Given the description of an element on the screen output the (x, y) to click on. 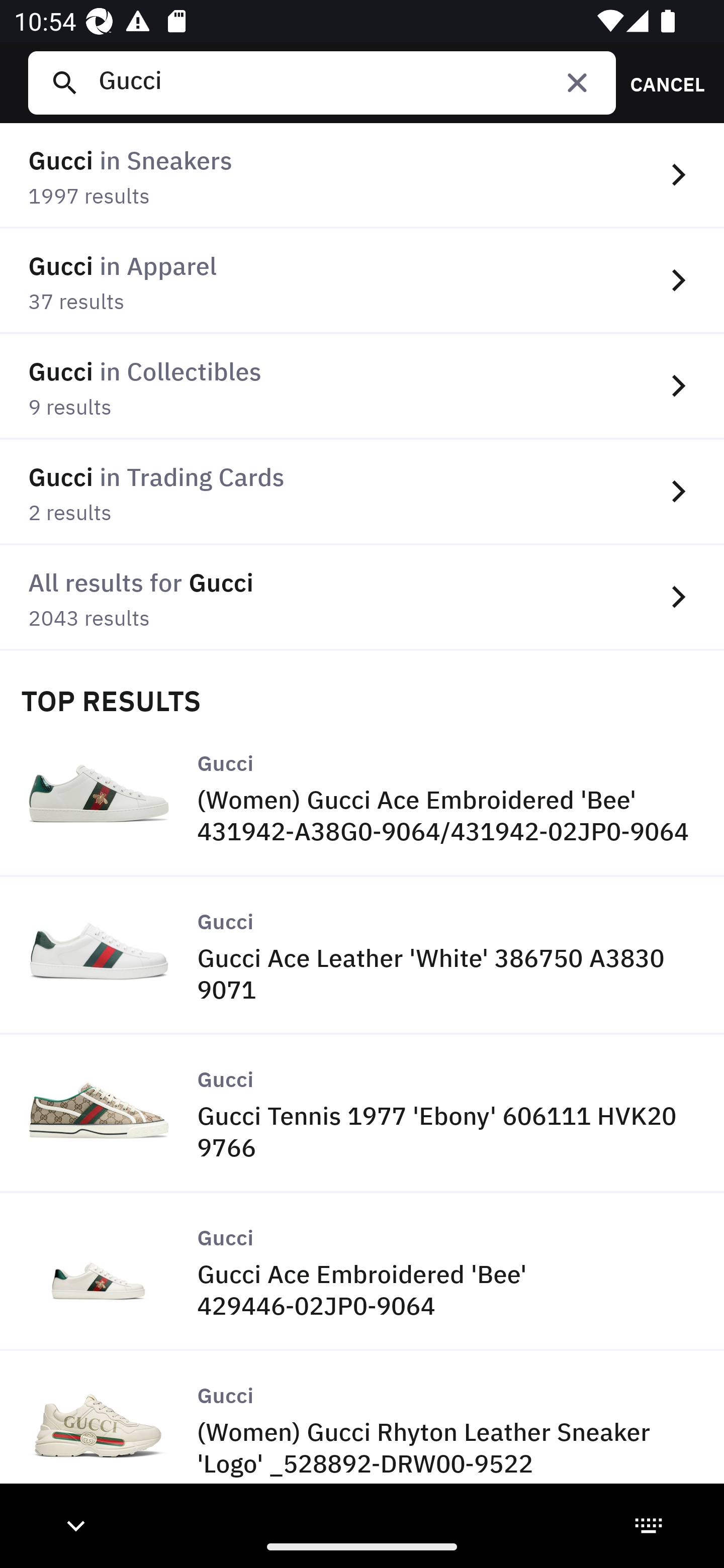
CANCEL (660, 82)
Gucci (349, 82)
 (577, 82)
Gucci  in Sneakers 1997 results  (362, 175)
Gucci  in Apparel 37 results  (362, 280)
Gucci  in Collectibles 9 results  (362, 386)
Gucci  in Trading Cards 2 results  (362, 492)
All results for  Gucci 2043 results  (362, 597)
Gucci Gucci Ace Leather 'White' 386750 A3830 9071 (362, 955)
Gucci Gucci Tennis 1977 'Ebony' 606111 HVK20 9766 (362, 1113)
